Given the description of an element on the screen output the (x, y) to click on. 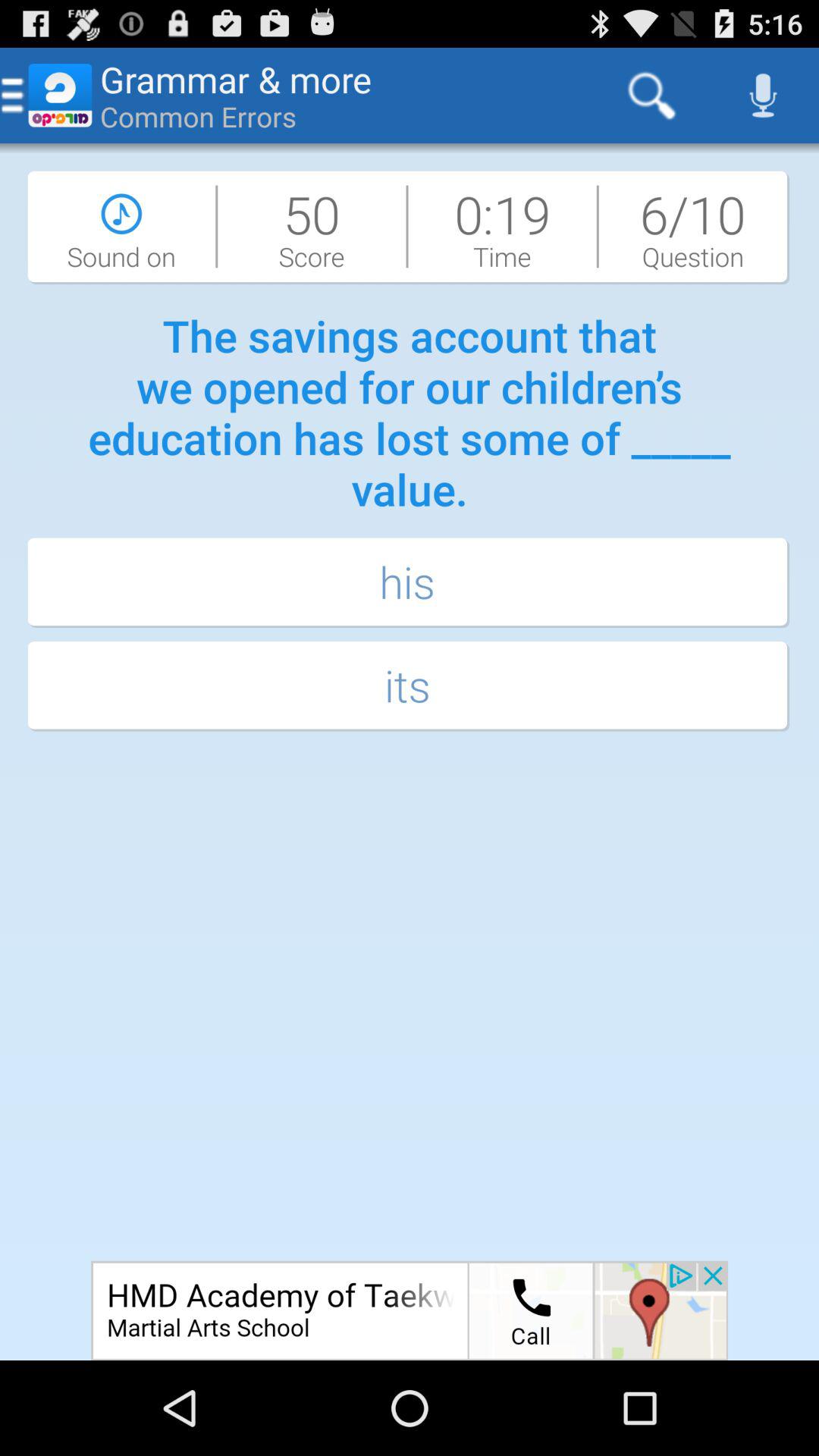
swipe until its button (409, 687)
